Given the description of an element on the screen output the (x, y) to click on. 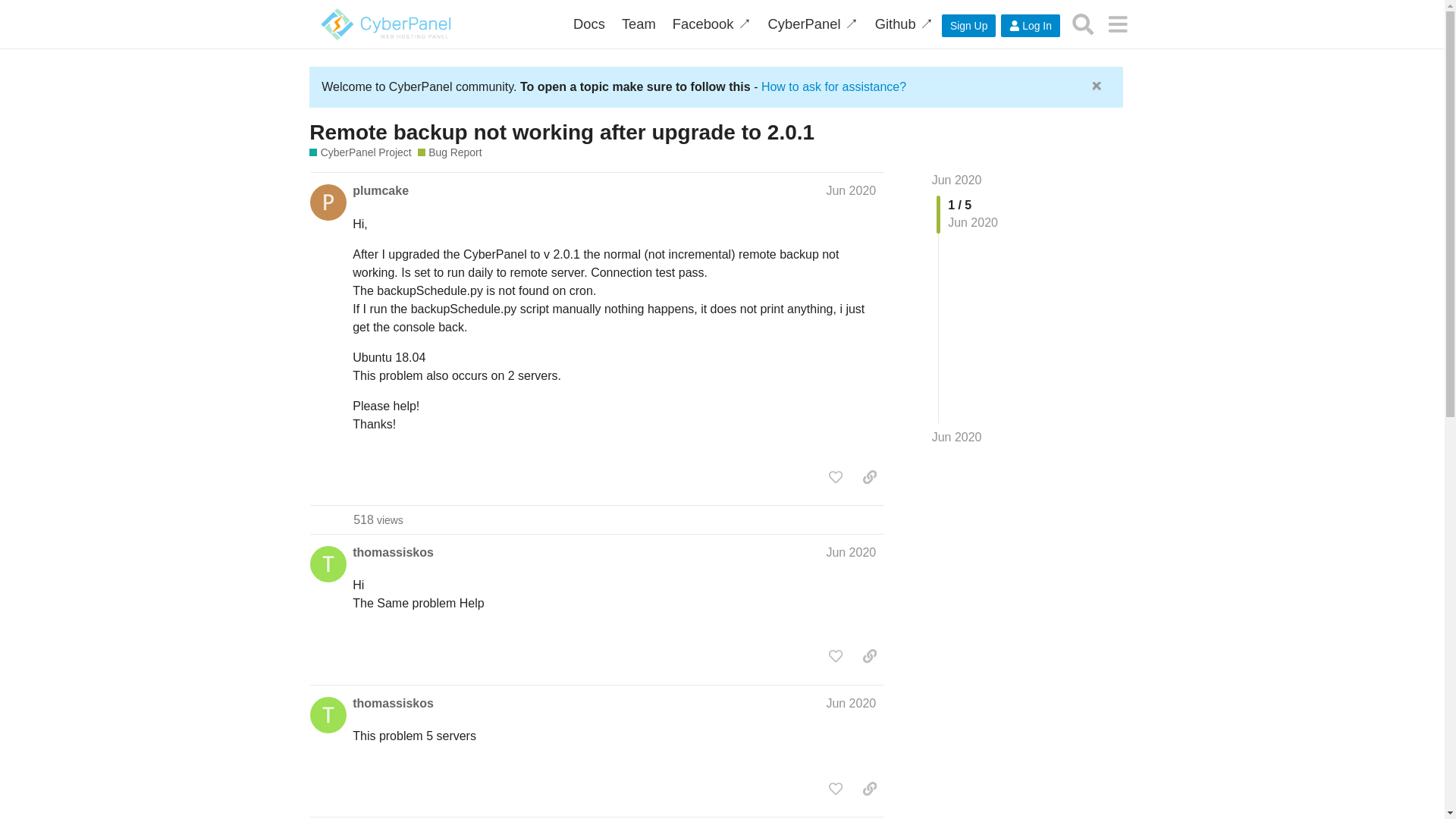
CyberPanel Website Homepage (813, 23)
Jump to the first post (956, 179)
plumcake (380, 190)
Jun 2020 (850, 190)
thomassiskos (392, 552)
thomassiskos (392, 703)
CyberPanel GitHub Repo (904, 23)
Jun 2020 (956, 437)
like this post (835, 476)
CyberPanel Facebook Community (711, 23)
